Given the description of an element on the screen output the (x, y) to click on. 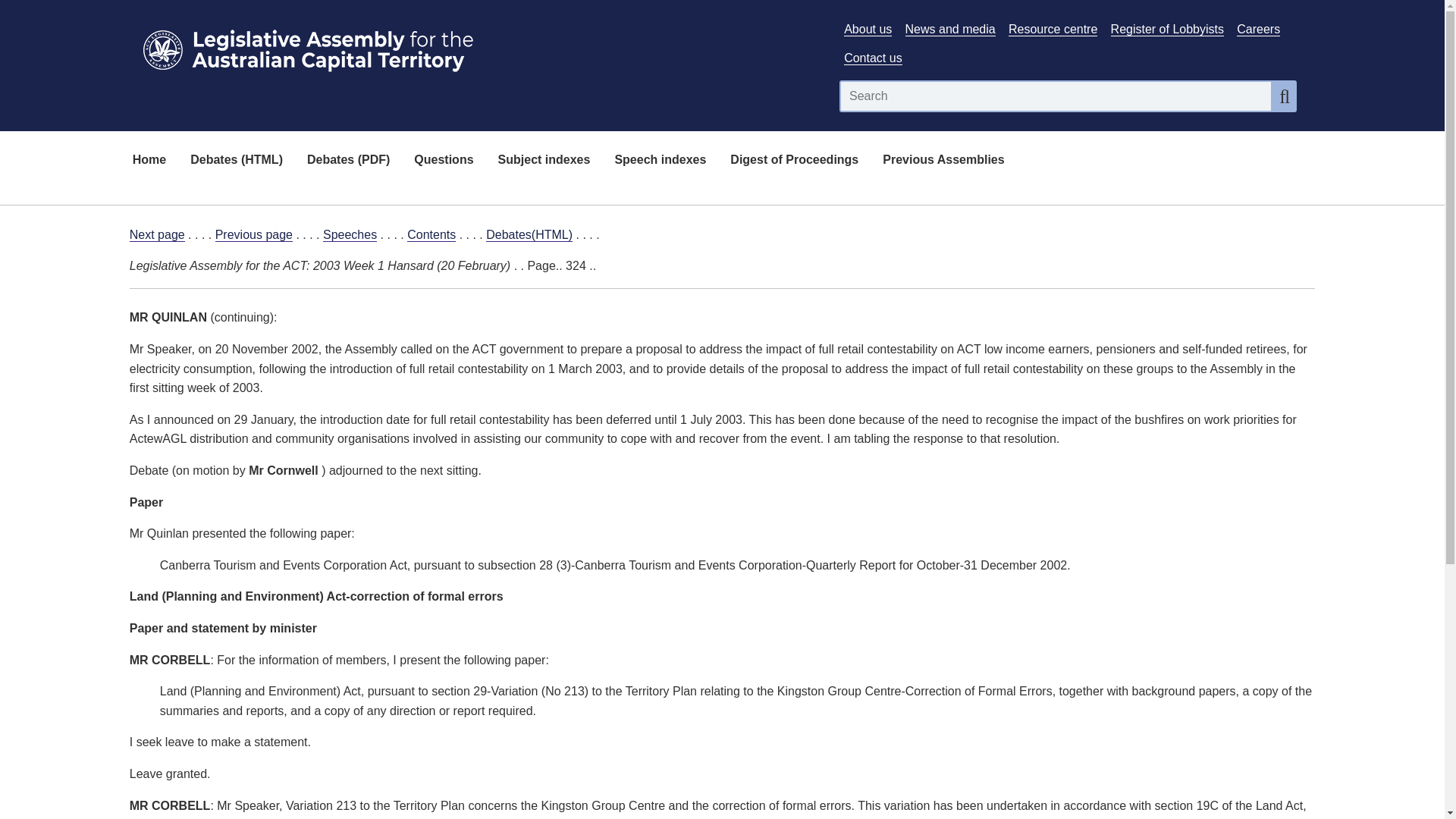
Previous page (253, 234)
Link to Contact Us (872, 58)
Contact us (872, 58)
News and media (950, 29)
About us (867, 29)
Link to Resource centre (1053, 29)
Resource centre (1053, 29)
Careers (1257, 29)
Speech indexes (659, 160)
Link to About Us (867, 29)
